Given the description of an element on the screen output the (x, y) to click on. 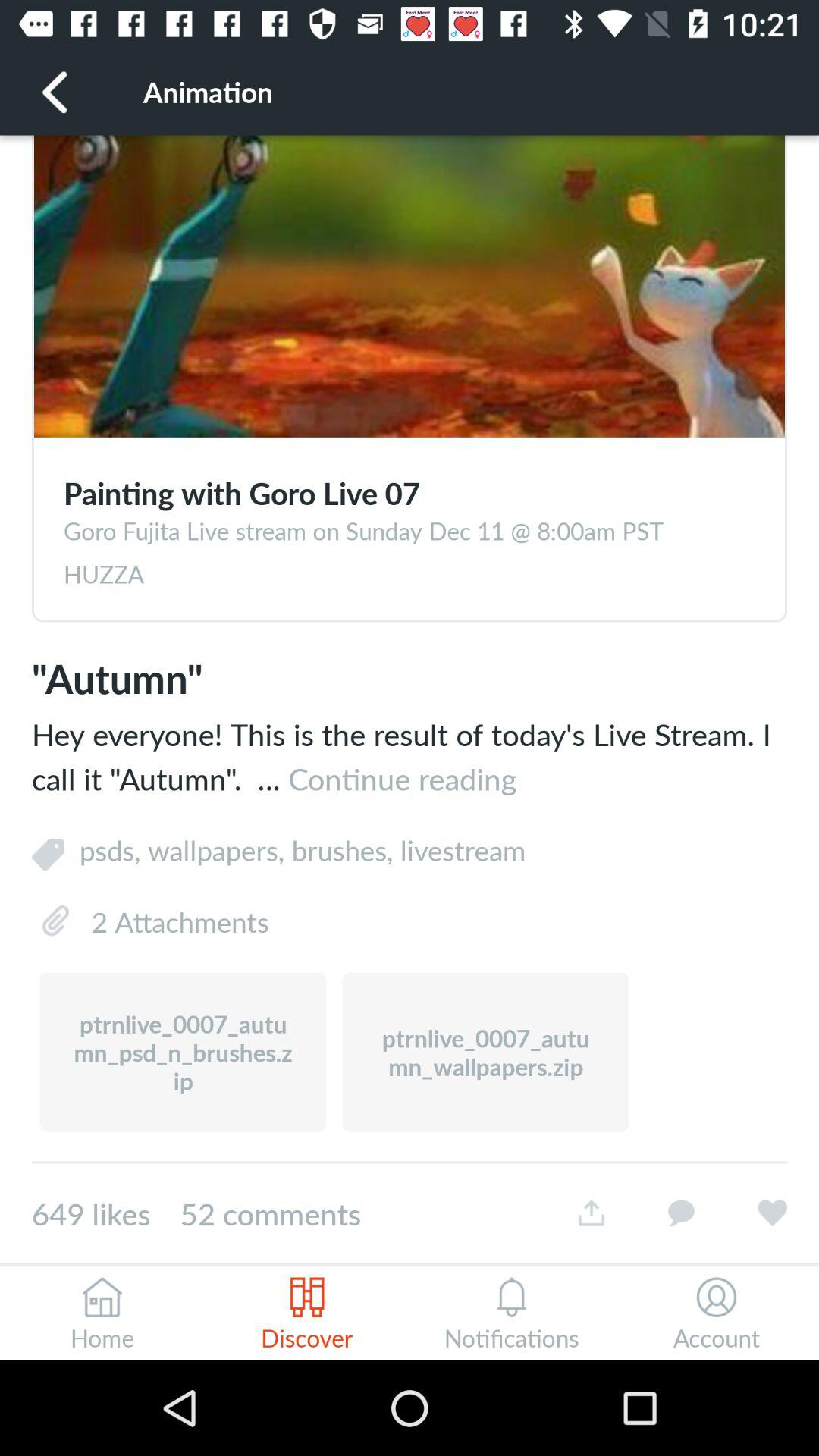
tap the icon below the "autumn" item (409, 756)
